Given the description of an element on the screen output the (x, y) to click on. 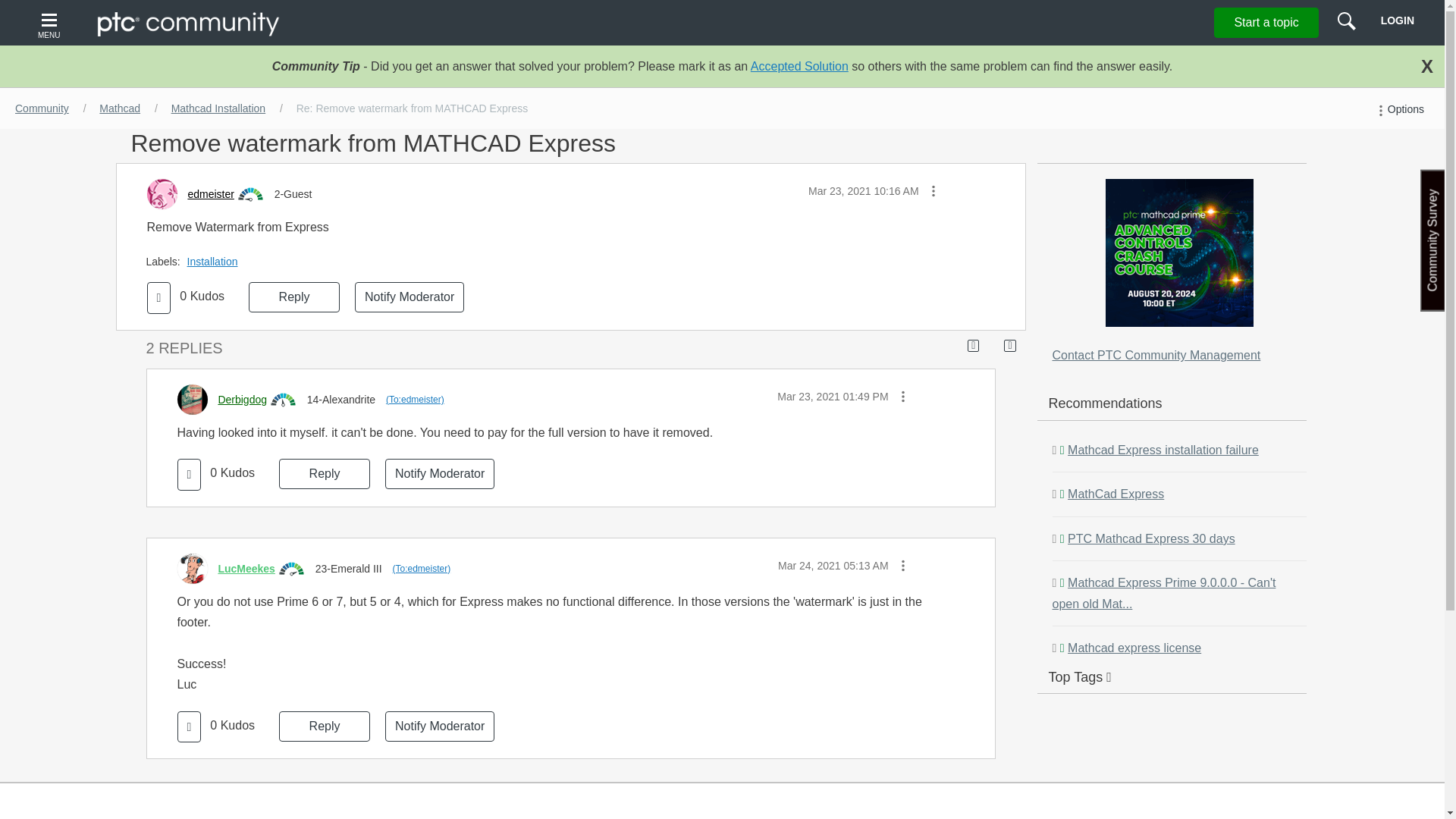
Mathcad (119, 108)
Accepted Solution (799, 65)
Mathcad Installation (218, 108)
MENU (50, 22)
Community (42, 108)
Start a topic (1265, 22)
LOGIN (1396, 20)
Options (1398, 109)
